Given the description of an element on the screen output the (x, y) to click on. 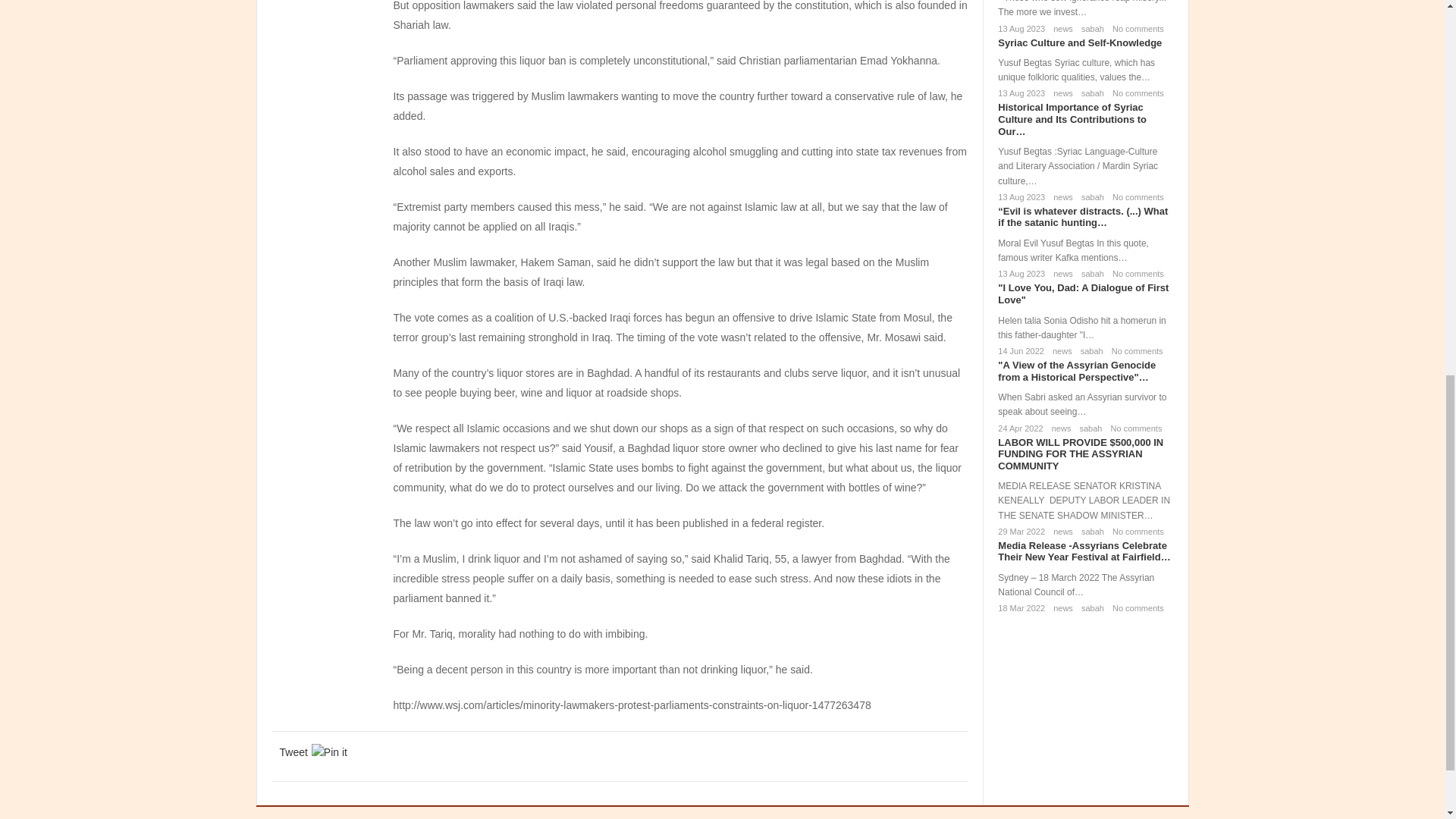
Pin it (329, 751)
Tweet (293, 751)
I Love You, Dad: A Dialogue of First Love (1083, 293)
